Given the description of an element on the screen output the (x, y) to click on. 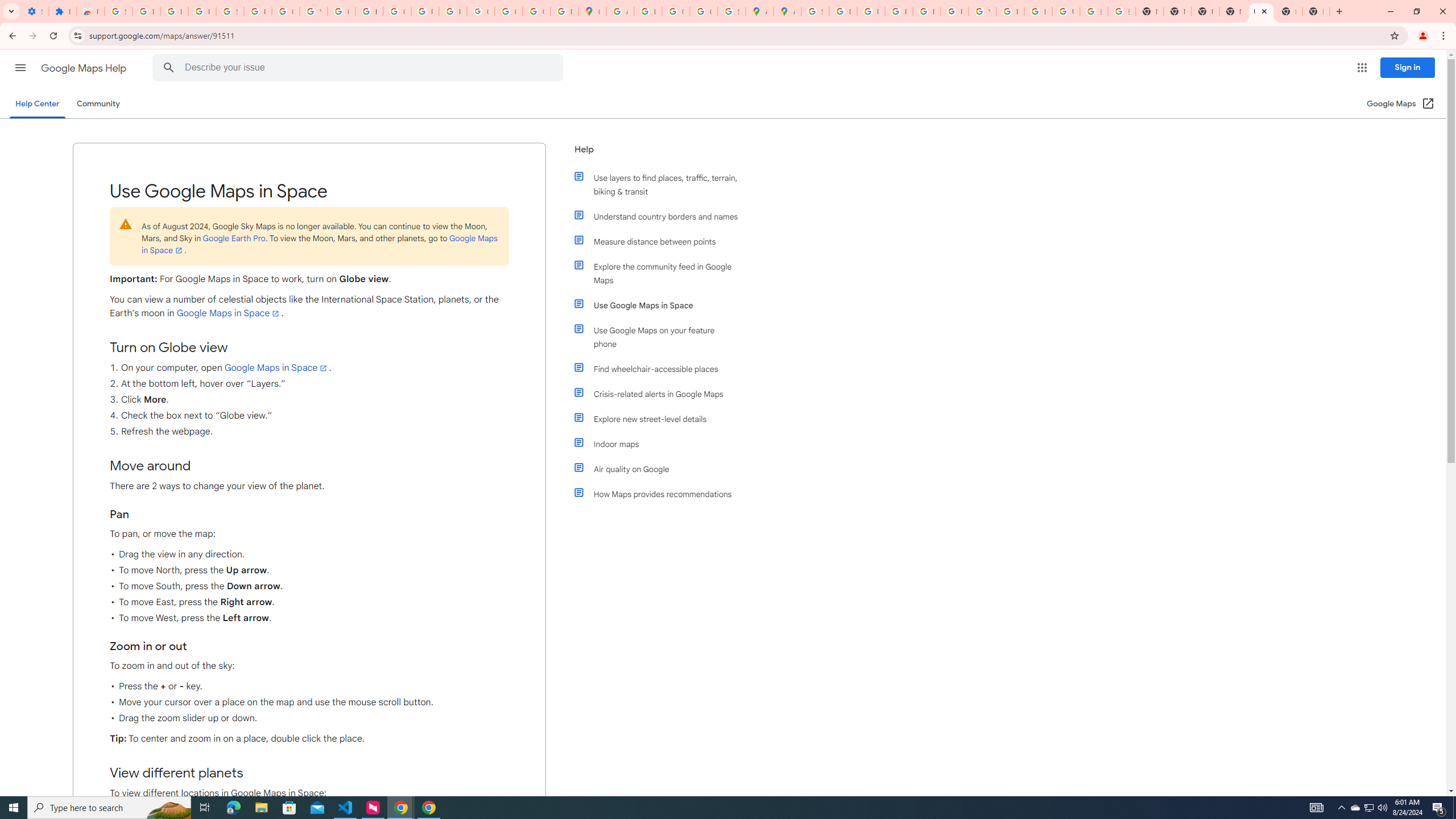
Google Account (285, 11)
Sign in - Google Accounts (118, 11)
Air quality on Google (661, 469)
Crisis-related alerts in Google Maps (661, 394)
Google Maps Help (84, 68)
Google Maps (Open in a new window) (1400, 103)
Find wheelchair-accessible places (661, 368)
Use Google Maps in Space - Google Maps Help (1260, 11)
